Given the description of an element on the screen output the (x, y) to click on. 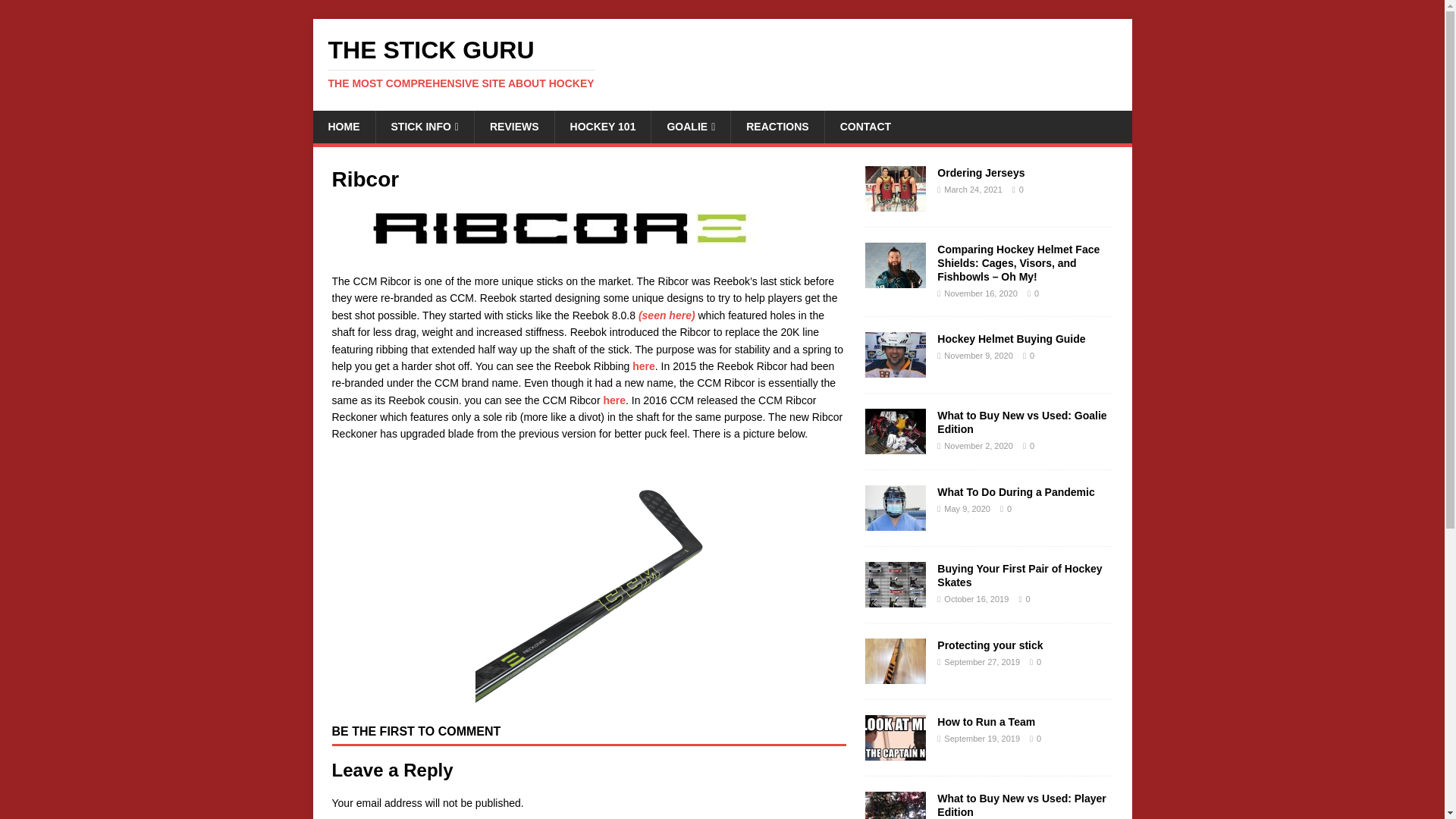
The Stick Guru (721, 63)
What To Do During a Pandemic (895, 522)
What To Do During a Pandemic (1015, 491)
Buying Your First Pair of Hockey Skates (895, 598)
Buying Your First Pair of Hockey Skates (1019, 575)
Ordering Jerseys (721, 63)
What to Buy New vs Used: Goalie Edition (895, 202)
Hockey Helmet Buying Guide (895, 445)
Ordering Jerseys (895, 369)
